Given the description of an element on the screen output the (x, y) to click on. 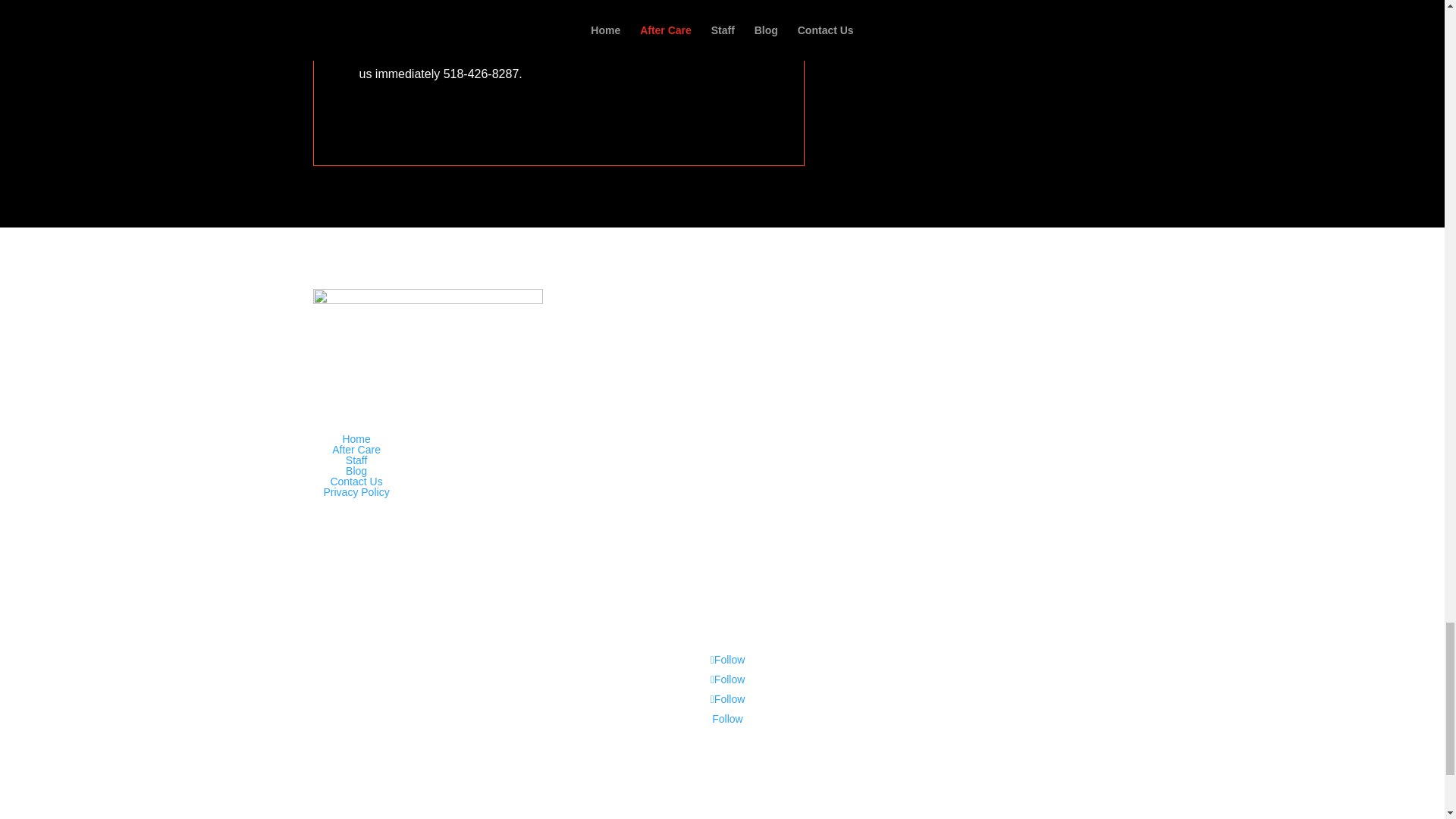
Follow on Youtube (726, 718)
Staff (357, 460)
Follow on Facebook (727, 659)
Follow (727, 698)
Follow (727, 659)
Blog (356, 470)
Follow on X (727, 679)
Follow on Instagram (727, 698)
temp3 (427, 320)
Contact Us (355, 481)
Follow (727, 679)
Home (355, 439)
Follow (726, 718)
Privacy Policy (355, 491)
After Care (355, 449)
